Given the description of an element on the screen output the (x, y) to click on. 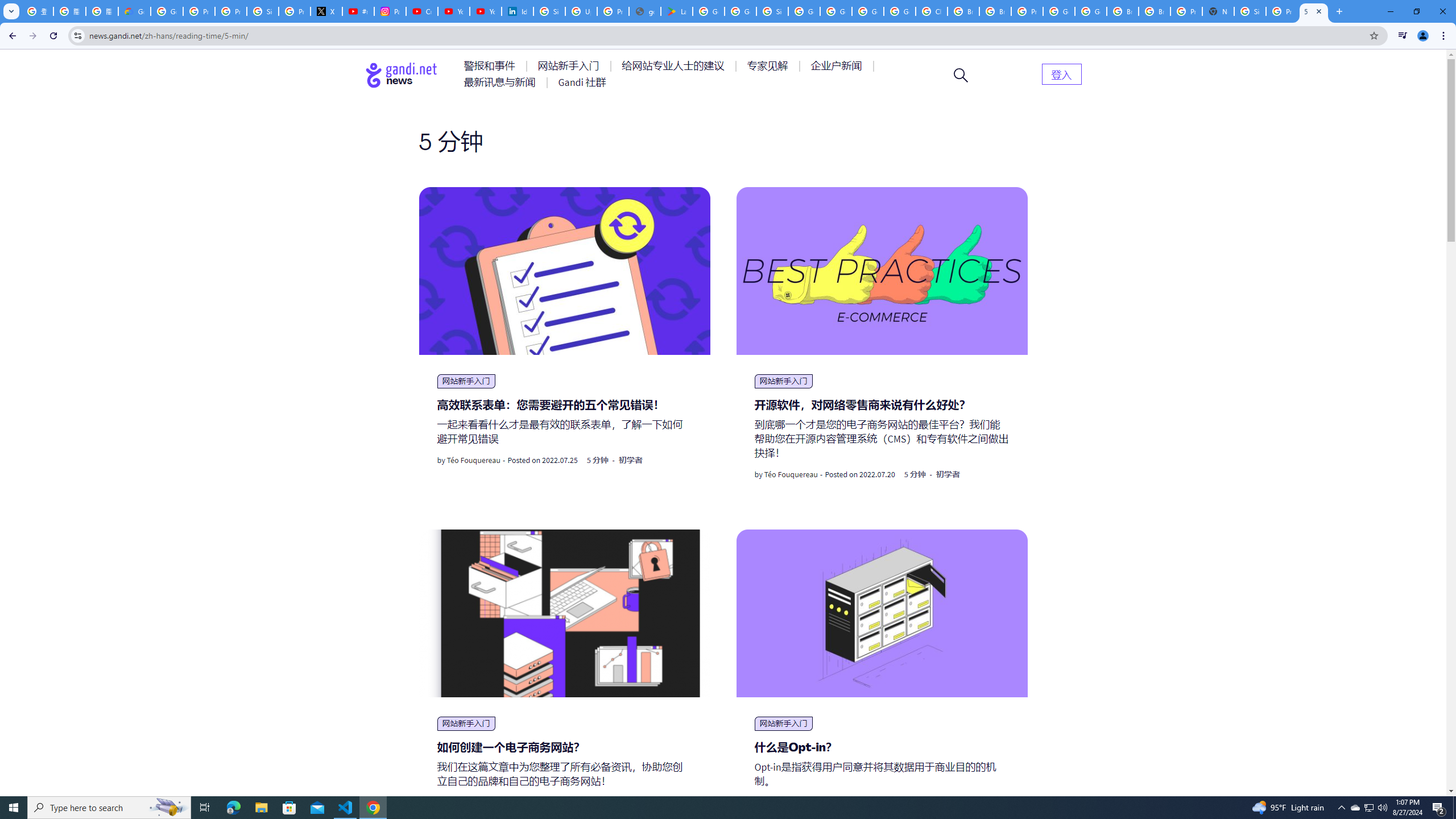
X (326, 11)
Privacy Help Center - Policies Help (230, 11)
AutomationID: menu-item-77766 (502, 82)
Identity verification via Persona | LinkedIn Help (517, 11)
AutomationID: menu-item-77761 (492, 65)
Sign in - Google Accounts (262, 11)
